Given the description of an element on the screen output the (x, y) to click on. 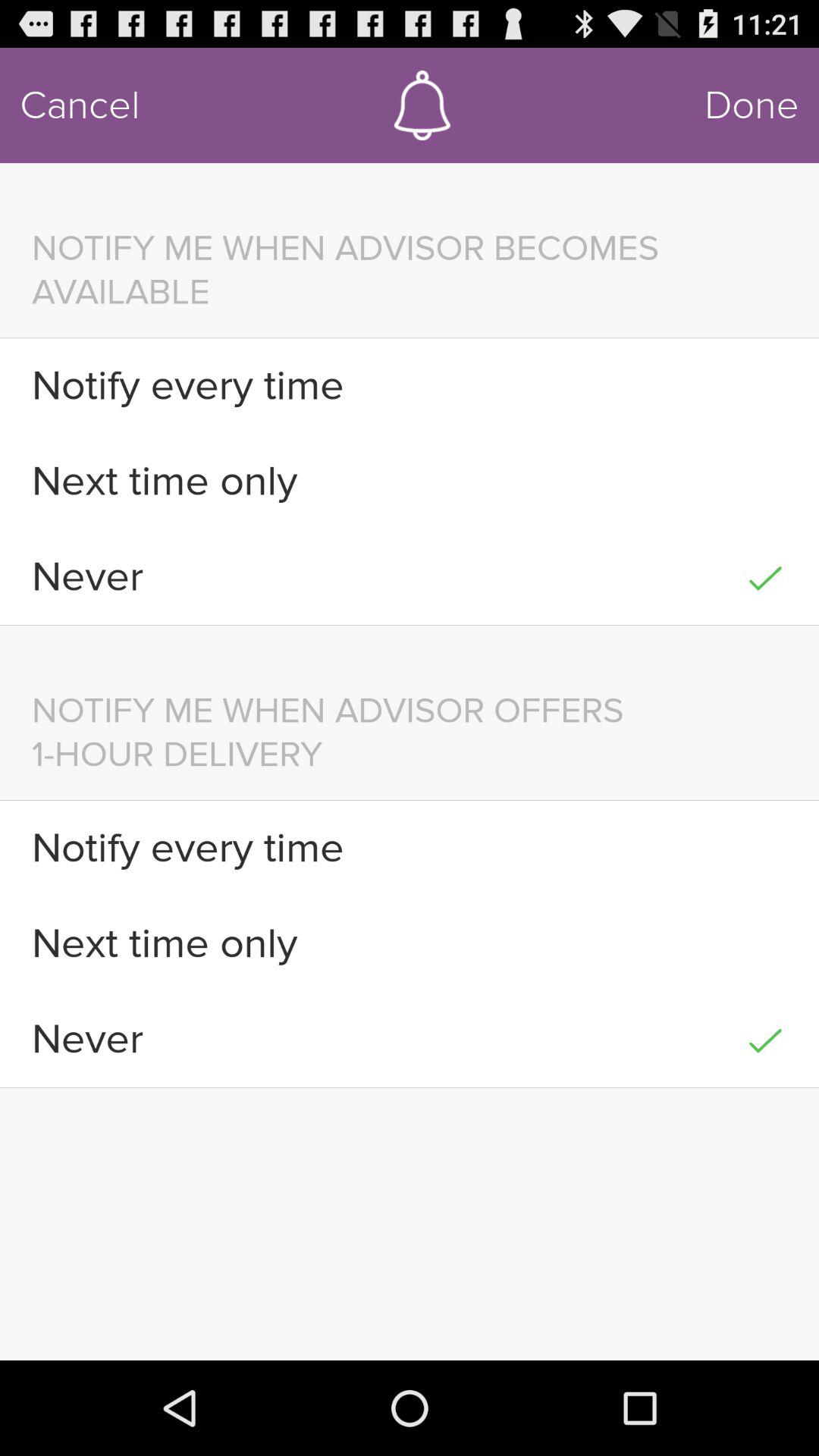
turn on the icon to the right of the next time only item (765, 943)
